Given the description of an element on the screen output the (x, y) to click on. 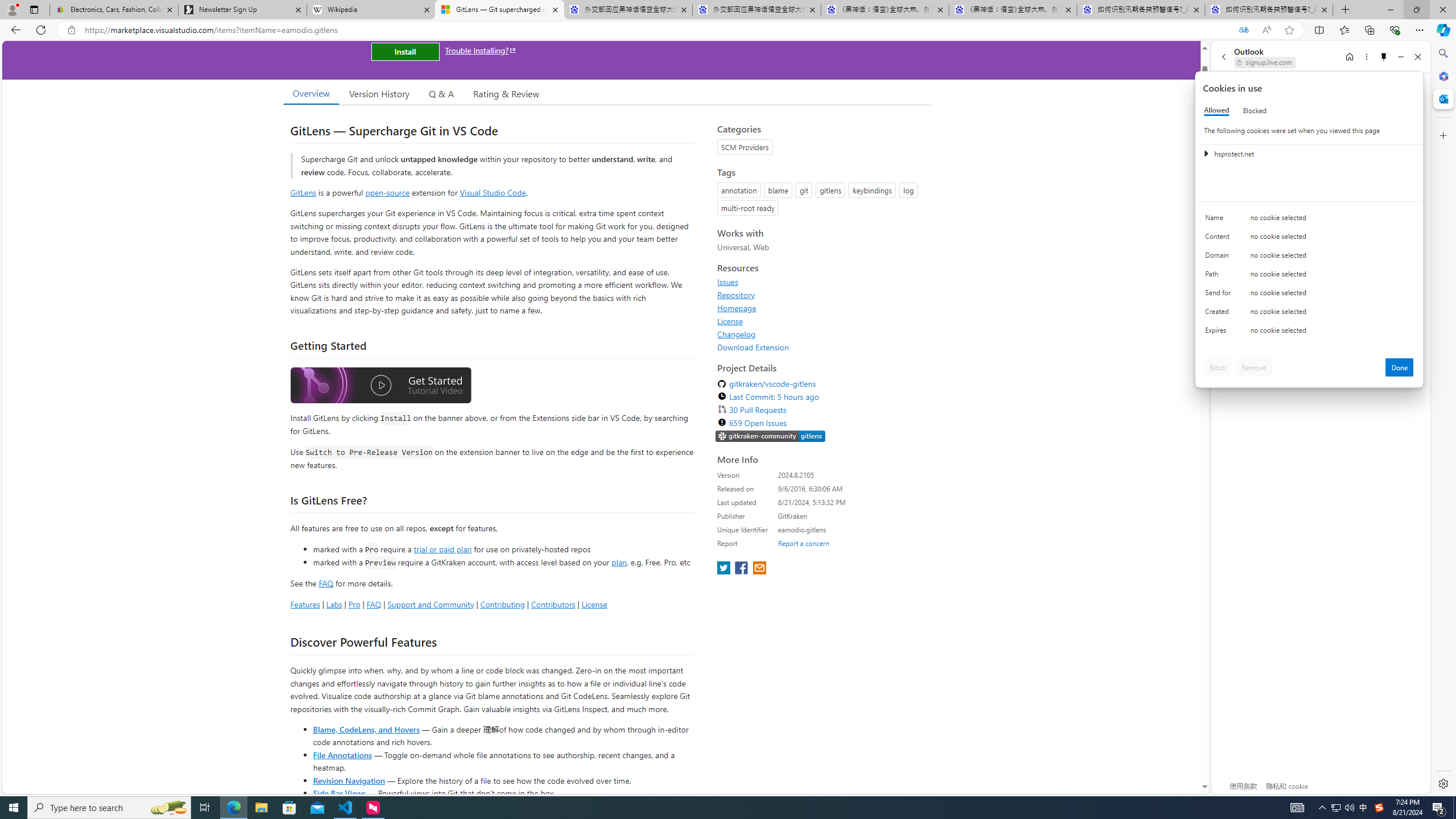
Expires (1219, 332)
Translated (1243, 29)
Class: c0153 c0157 (1309, 332)
Send for (1219, 295)
Pro (354, 603)
Remove (1253, 367)
Class: c0153 c0157 c0154 (1309, 220)
Done (1399, 367)
